Given the description of an element on the screen output the (x, y) to click on. 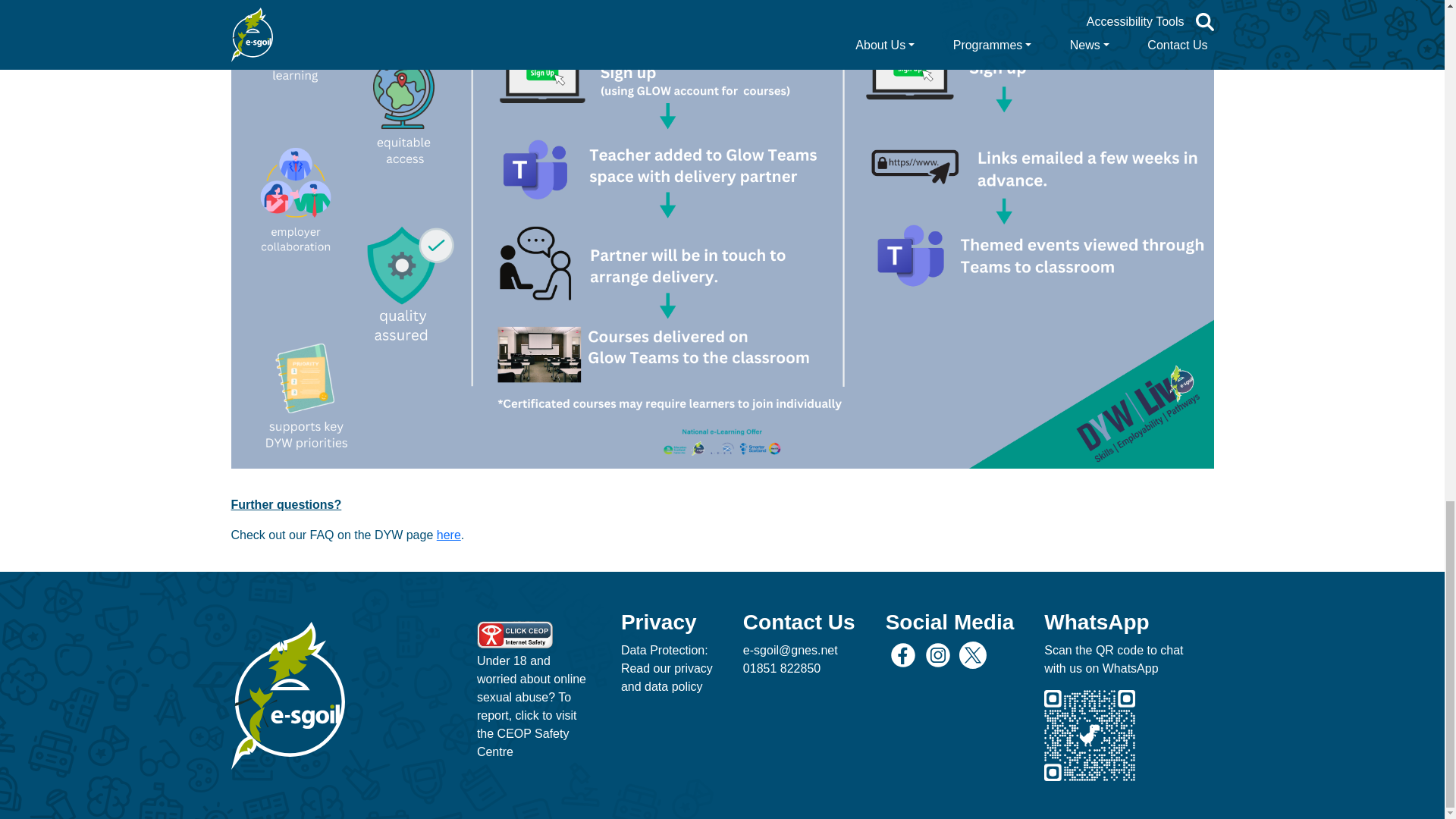
DYW Live (448, 534)
